Given the description of an element on the screen output the (x, y) to click on. 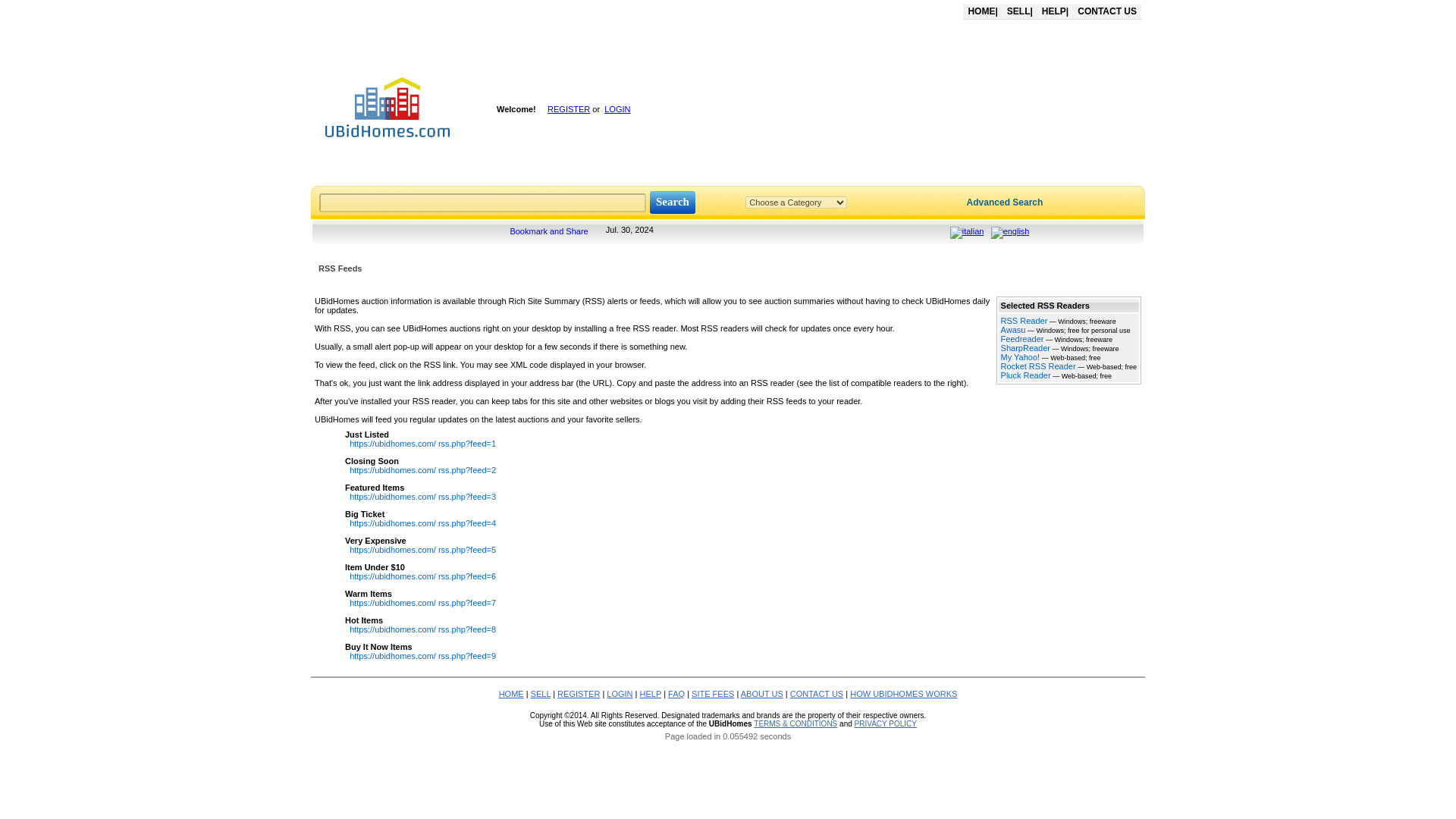
Search (672, 201)
My Yahoo! (1021, 356)
Rocket RSS Reader (1038, 366)
Search (672, 201)
Pluck Reader (1026, 375)
SharpReader (1025, 347)
CONTACT US (1107, 11)
LOGIN (617, 108)
RSS Reader (1024, 320)
Awasu (1013, 329)
Advanced Search (1004, 202)
Search (672, 201)
Feedreader (1022, 338)
REGISTER (568, 108)
